Given the description of an element on the screen output the (x, y) to click on. 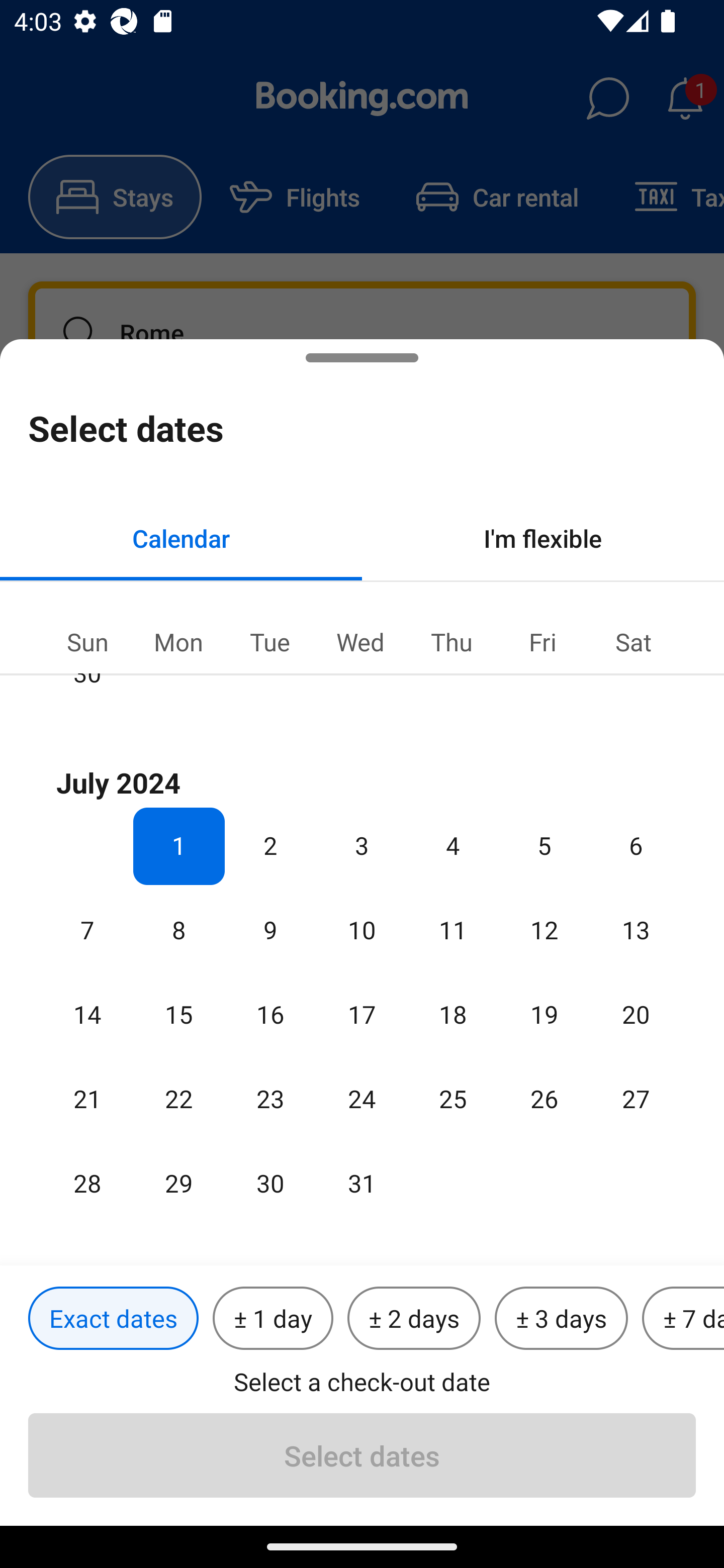
I'm flexible (543, 537)
Exact dates (113, 1318)
± 1 day (272, 1318)
± 2 days (413, 1318)
± 3 days (560, 1318)
± 7 days (683, 1318)
Select dates (361, 1454)
